Given the description of an element on the screen output the (x, y) to click on. 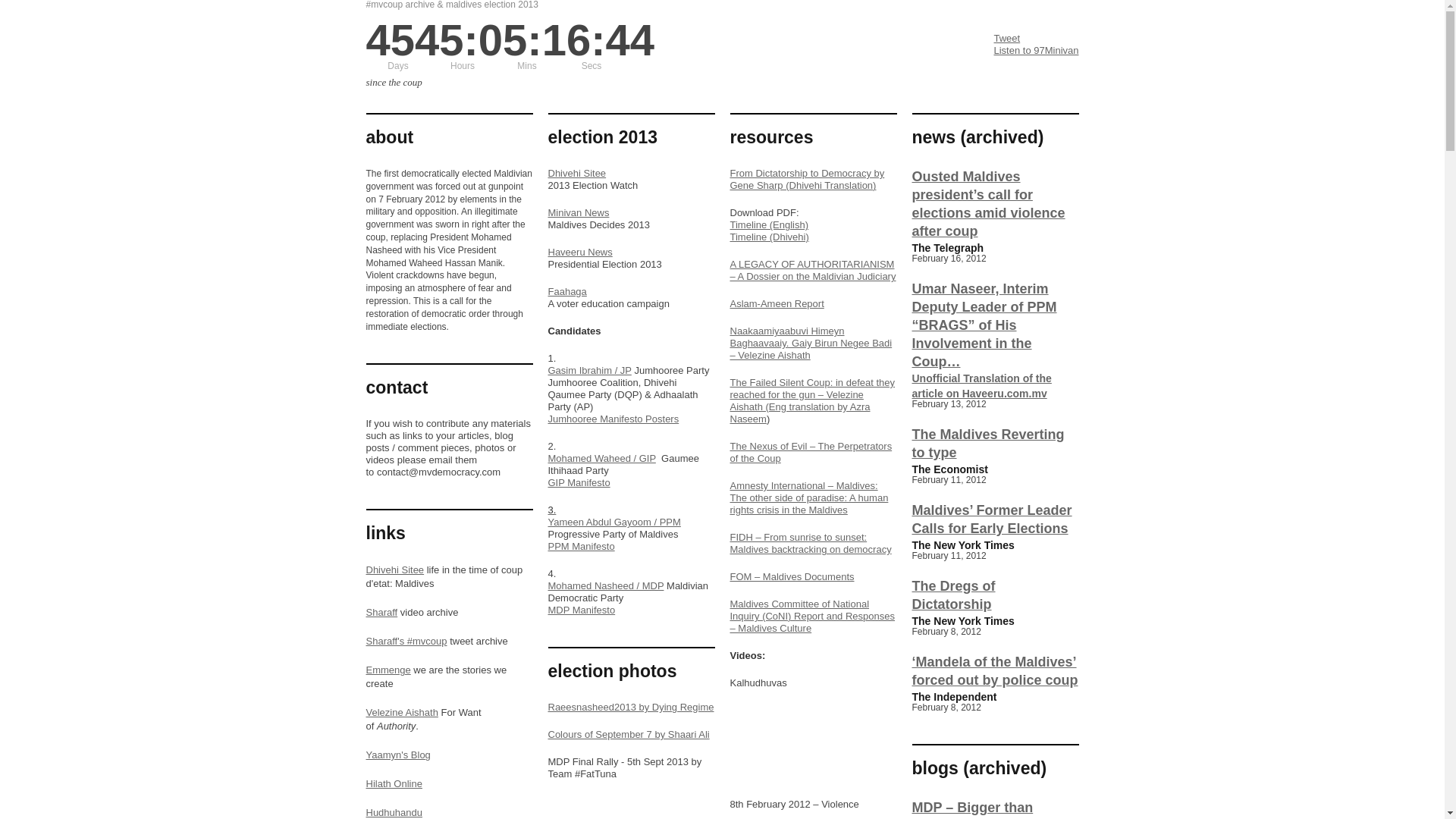
PPM Manifesto (580, 546)
Emmenge (387, 669)
Waheedhuge Bagaavaai (812, 751)
Jumhooree Manifesto Posters (612, 419)
Sharaff (381, 612)
Dhivehi Sitee 2013 Election Watch (576, 173)
Tweet (1006, 38)
Velezine (401, 712)
Sharaff (381, 612)
Minivan News - Maldives Election 2013 (577, 212)
Dhivehi Sitee (576, 173)
MDP Manifesto (580, 609)
Dhivehi Sitee (394, 569)
Hudhuhandu (393, 812)
Emmenge (387, 669)
